Given the description of an element on the screen output the (x, y) to click on. 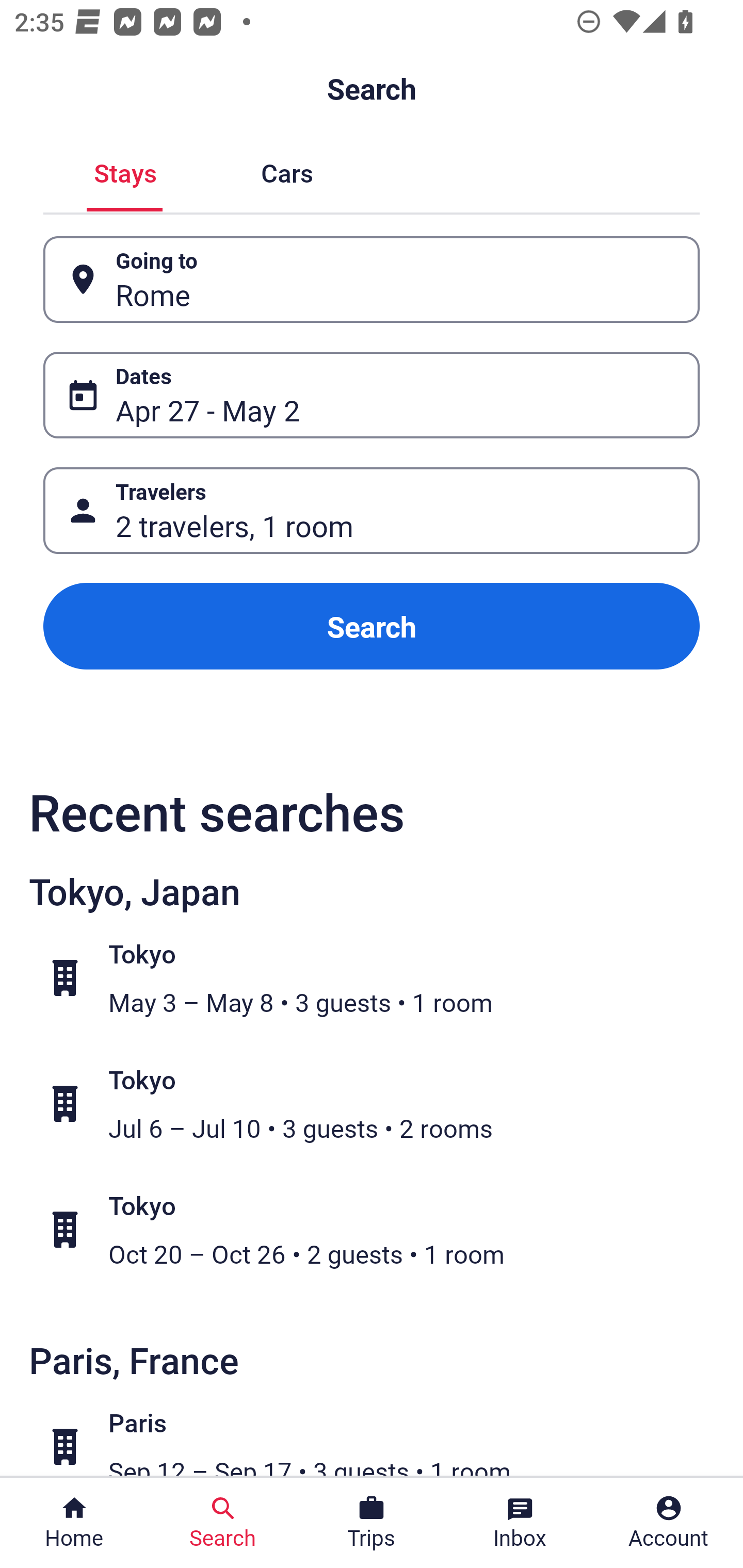
Cars (286, 171)
Going to Button Rome (371, 279)
Dates Button Apr 27 - May 2 (371, 395)
Travelers Button 2 travelers, 1 room (371, 510)
Search (371, 626)
Tokyo May 3 – May 8 • 3 guests • 1 room (382, 978)
Tokyo Jul 6 – Jul 10 • 3 guests • 2 rooms (382, 1103)
Tokyo Oct 20 – Oct 26 • 2 guests • 1 room (382, 1229)
Home Home Button (74, 1522)
Trips Trips Button (371, 1522)
Inbox Inbox Button (519, 1522)
Account Profile. Button (668, 1522)
